Given the description of an element on the screen output the (x, y) to click on. 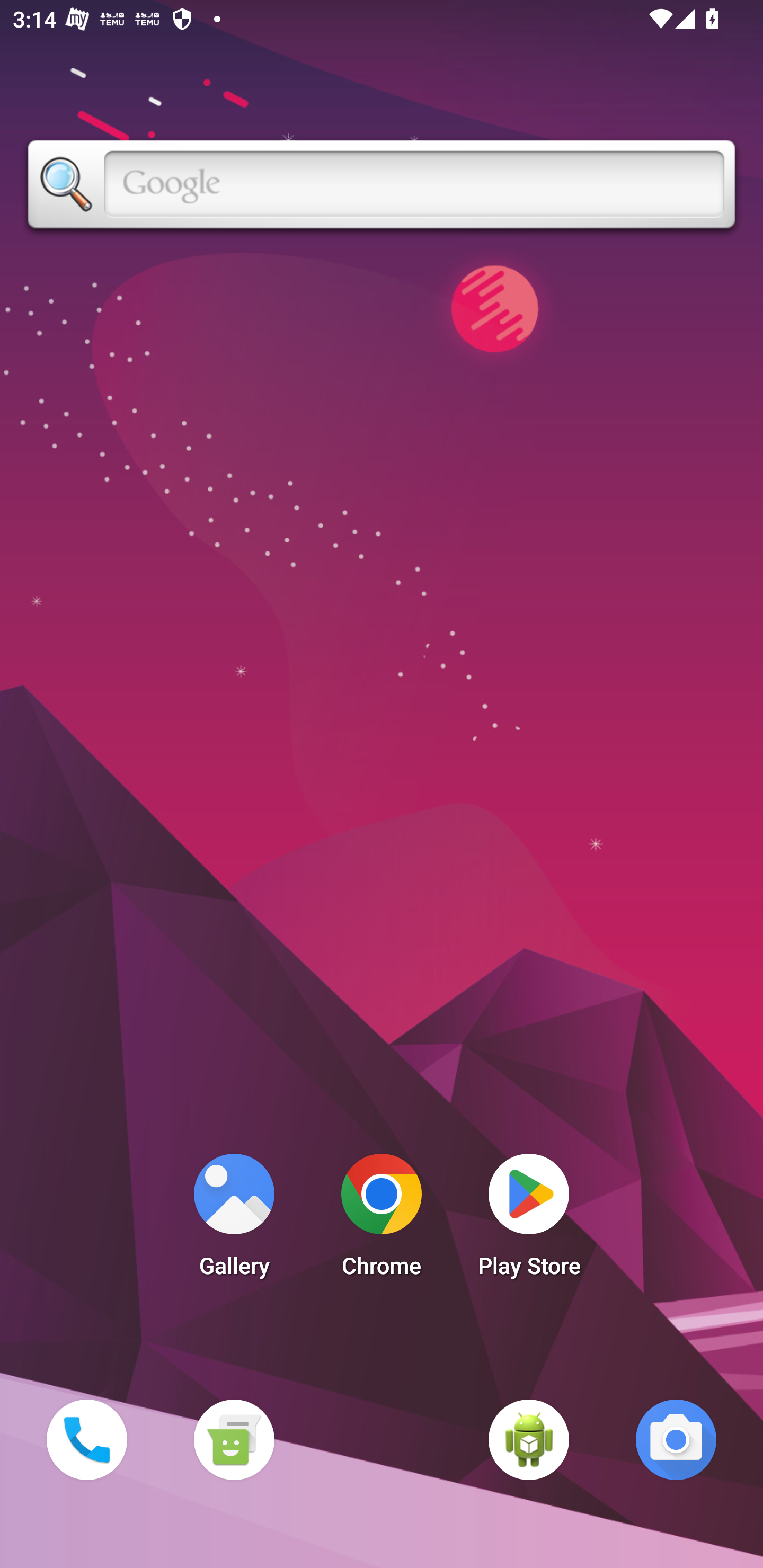
Gallery (233, 1220)
Chrome (381, 1220)
Play Store (528, 1220)
Phone (86, 1439)
Messaging (233, 1439)
WebView Browser Tester (528, 1439)
Camera (676, 1439)
